Given the description of an element on the screen output the (x, y) to click on. 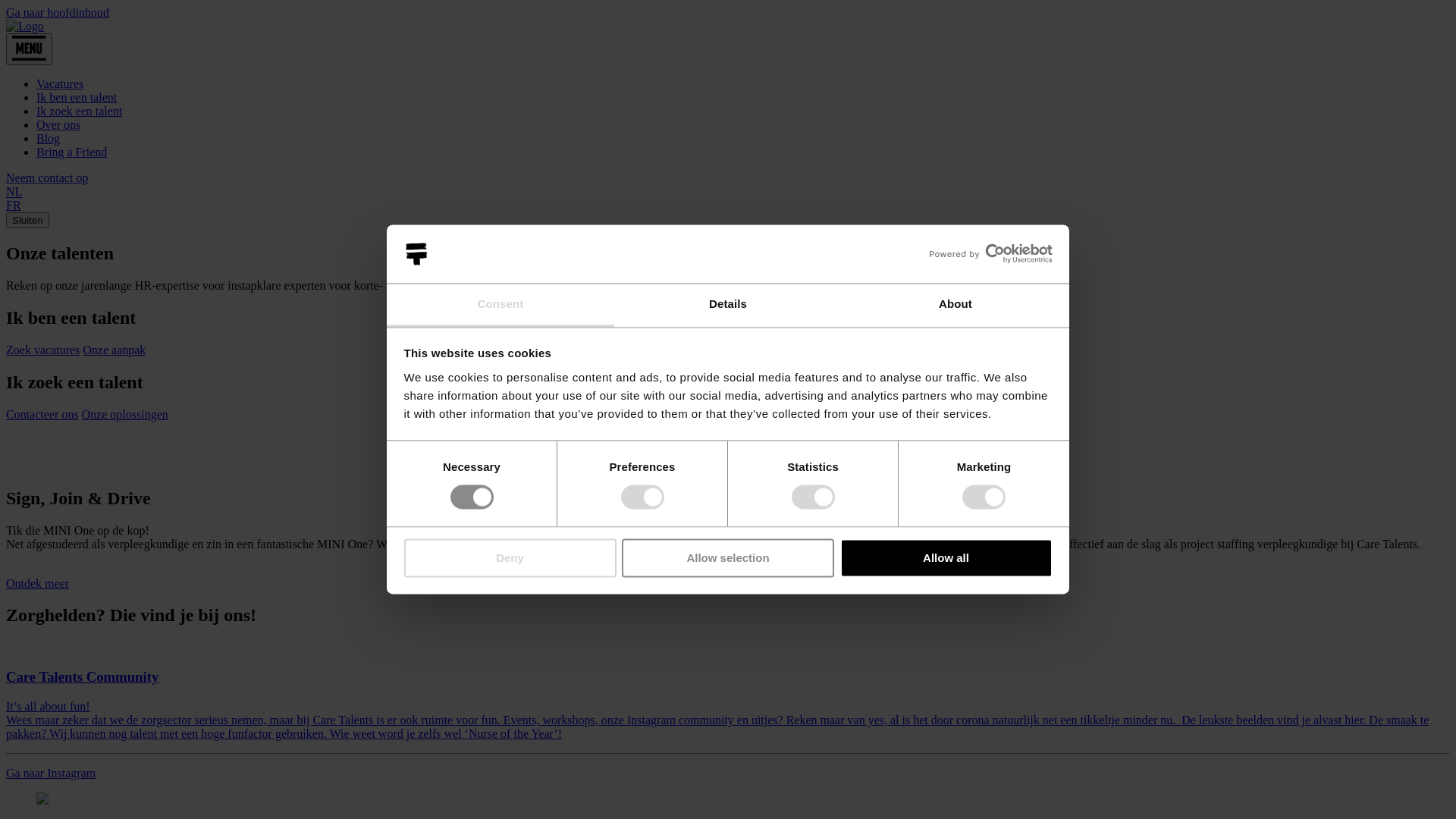
Details Element type: text (727, 304)
Consent Element type: text (500, 304)
About Element type: text (955, 304)
Over ons Element type: text (58, 124)
Ik zoek een talent Element type: text (79, 110)
Ga naar hoofdinhoud Element type: text (57, 12)
Allow selection Element type: text (727, 557)
Bring a Friend Element type: text (71, 151)
Neem contact op Element type: text (46, 177)
Sluiten Element type: text (27, 220)
Contacteer ons Element type: text (42, 413)
Vacatures Element type: text (59, 83)
Deny Element type: text (509, 557)
Zoek vacatures Element type: text (42, 349)
Ik ben een talent Element type: text (76, 97)
Onze aanpak Element type: text (113, 349)
NL Element type: text (13, 191)
Allow all Element type: text (946, 557)
Blog Element type: text (47, 137)
Onze oplossingen Element type: text (124, 413)
Ontdek meer Element type: text (37, 583)
FR Element type: text (13, 204)
